Given the description of an element on the screen output the (x, y) to click on. 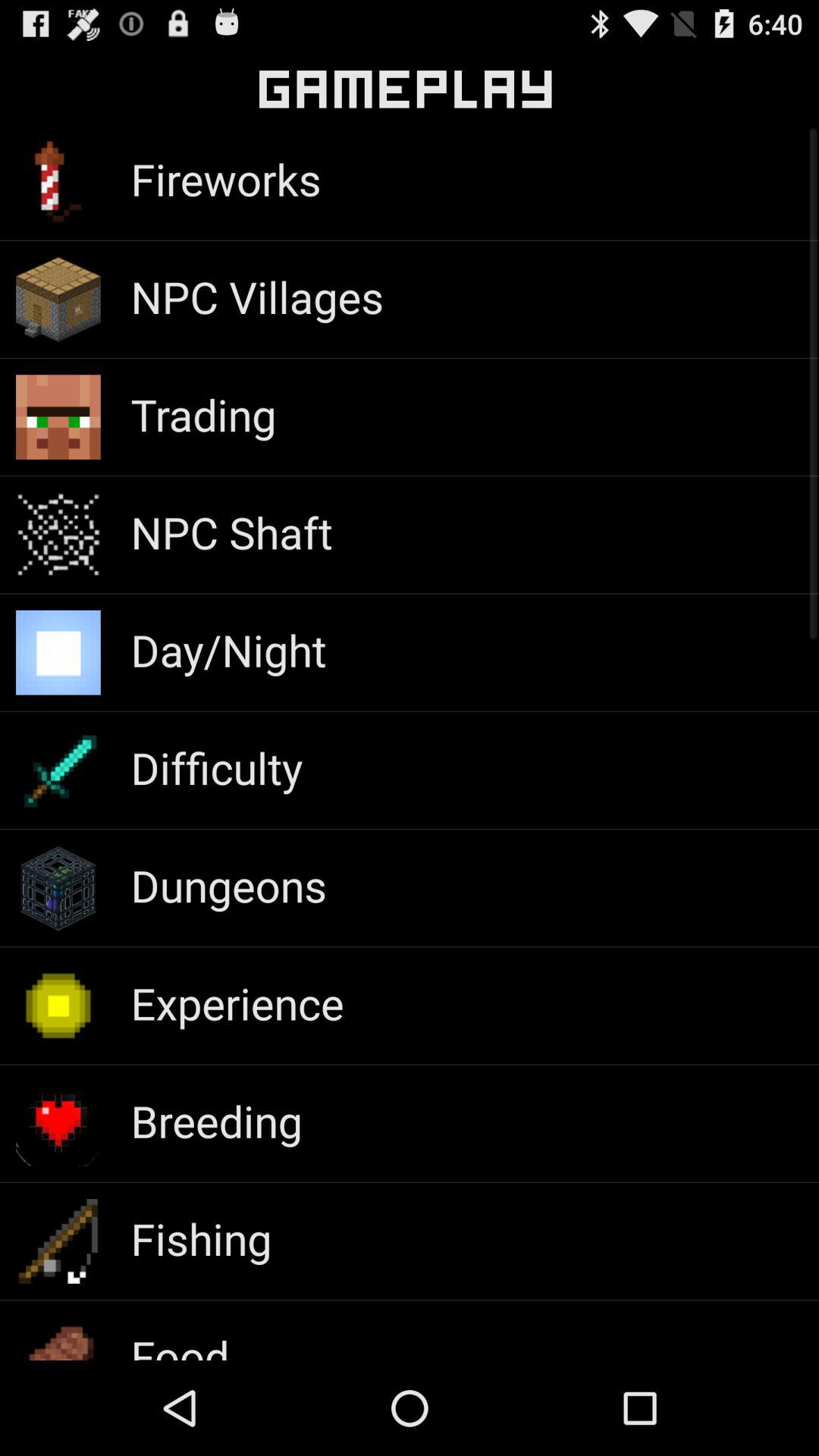
scroll to breeding (216, 1120)
